Given the description of an element on the screen output the (x, y) to click on. 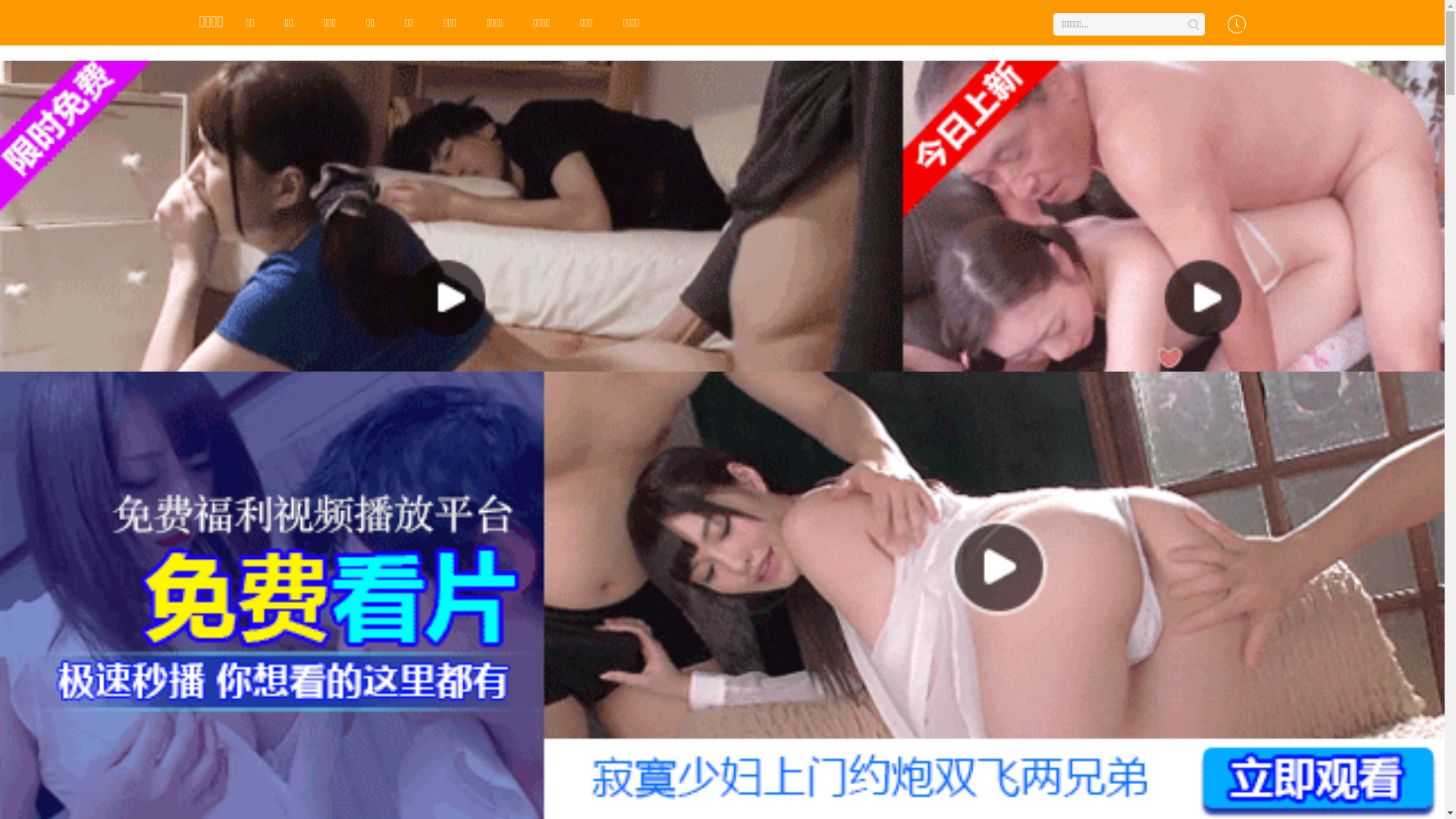
HD
5peace Element type: text (1108, 696)
HD Element type: text (786, 654)
HD Element type: text (915, 654)
HD Element type: text (528, 654)
HD Element type: text (399, 654)
HD Element type: text (270, 654)
HD Element type: text (657, 654)
